Given the description of an element on the screen output the (x, y) to click on. 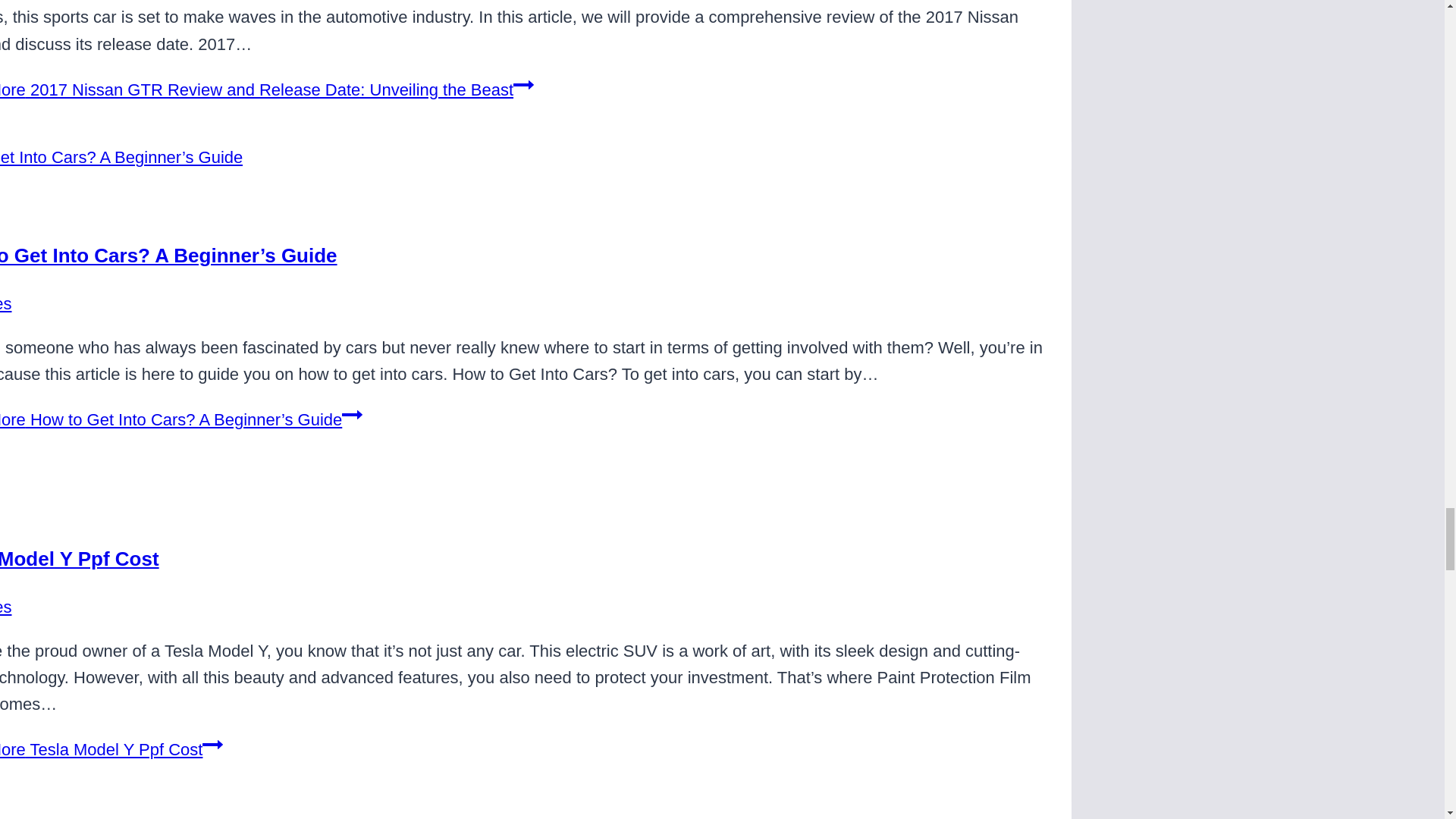
Read More Tesla Model Y Ppf CostContinue (111, 749)
Tesla Model Y Ppf Cost (79, 558)
Continue (523, 84)
Continue (212, 744)
Continue (352, 414)
